Given the description of an element on the screen output the (x, y) to click on. 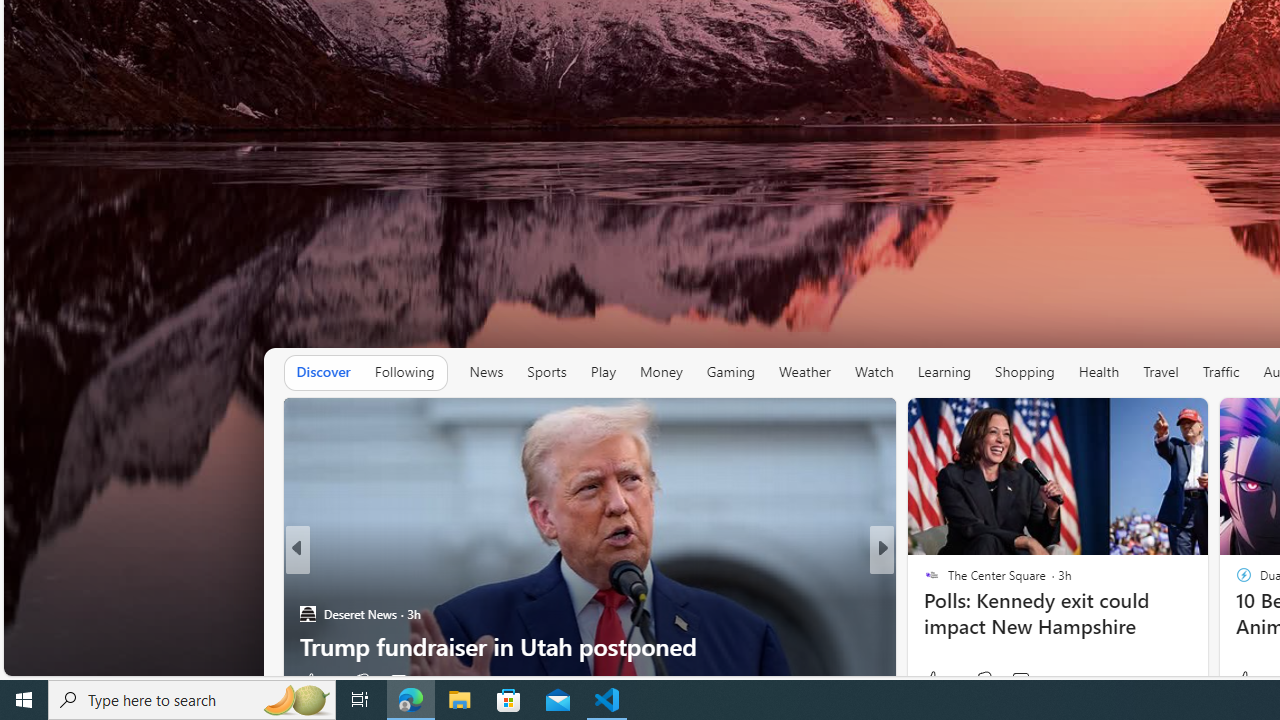
TODAY (923, 581)
1k Like (1250, 680)
View comments 25 Comment (1013, 681)
View comments 88 Comment (1019, 681)
51 Like (934, 681)
Cryptopolitan (923, 581)
View comments 5 Comment (1019, 681)
View comments 88 Comment (1029, 681)
View comments 26 Comment (413, 681)
